Given the description of an element on the screen output the (x, y) to click on. 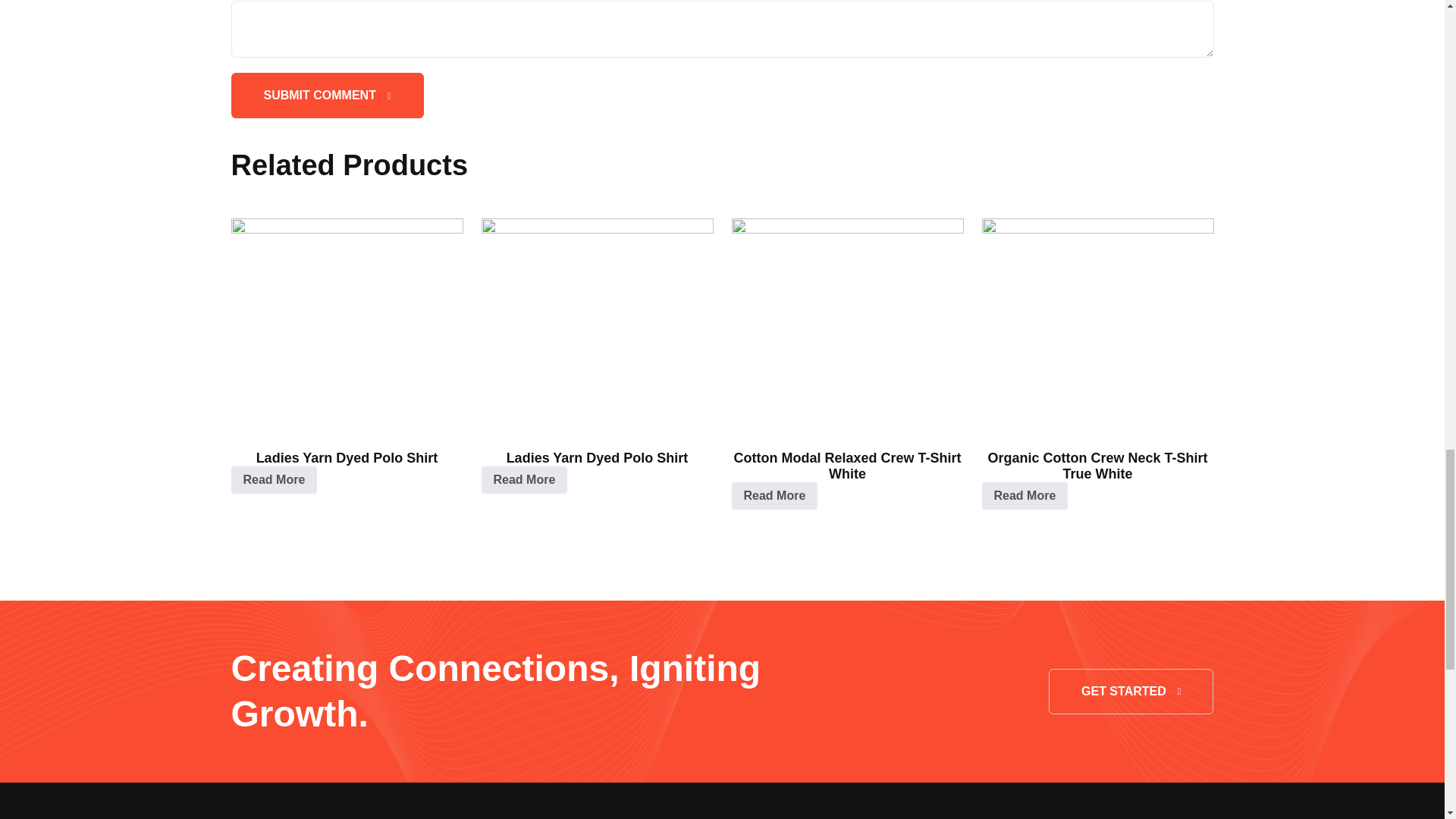
Read More (523, 479)
Ladies Yarn Dyed Polo Shirt (346, 406)
Read More (773, 495)
Ladies Yarn Dyed Polo Shirt (596, 406)
GET STARTED (1130, 691)
Read More (1024, 495)
Cotton Modal Relaxed Crew T-Shirt White (846, 414)
SUBMIT COMMENT (326, 94)
Read More (273, 479)
Organic Cotton Crew Neck T-Shirt True White (1096, 414)
